Given the description of an element on the screen output the (x, y) to click on. 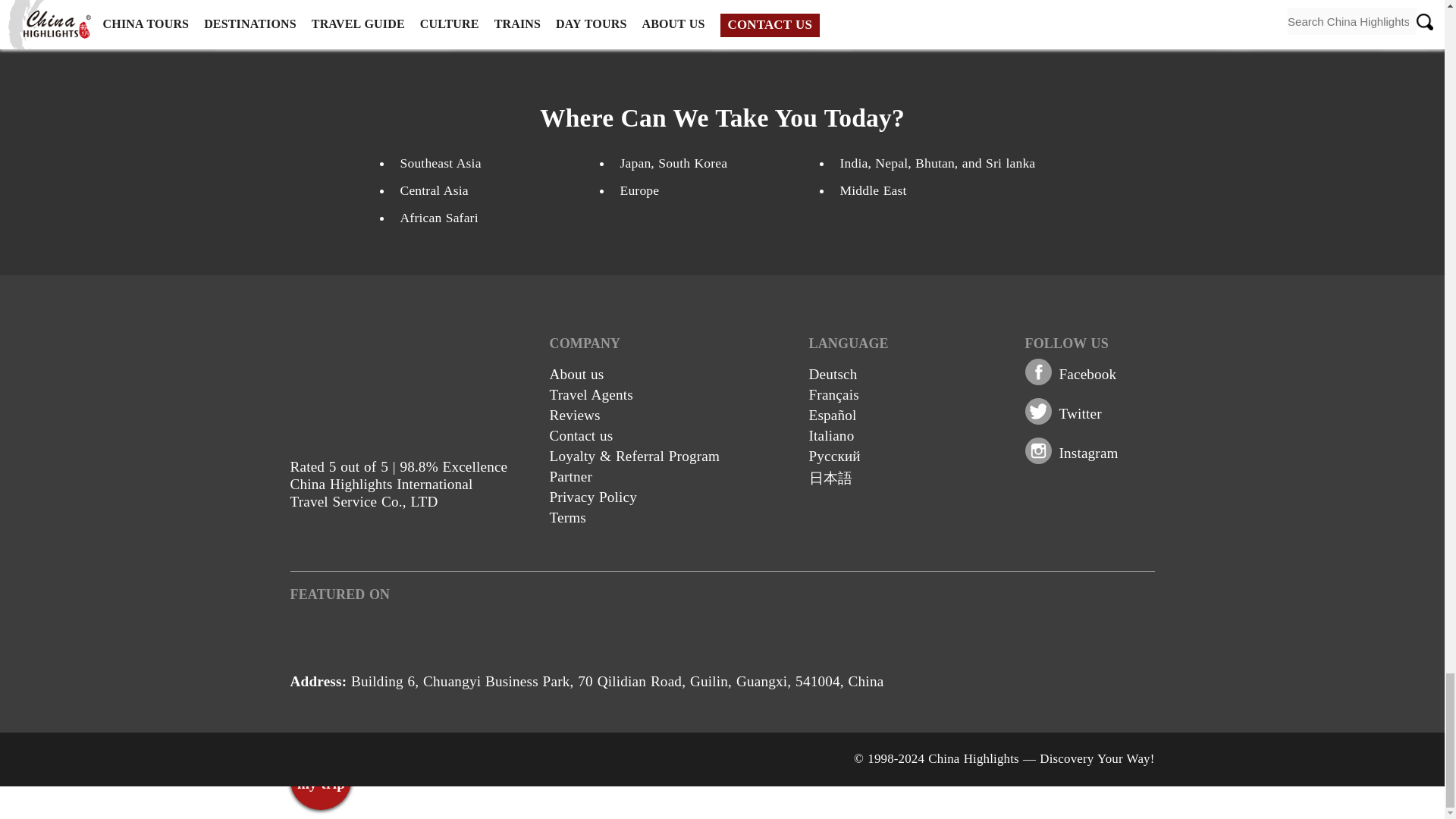
Follow us on Instagram (1088, 453)
Follow us on Facebook (1087, 374)
Share us on Twitter (1079, 413)
